Given the description of an element on the screen output the (x, y) to click on. 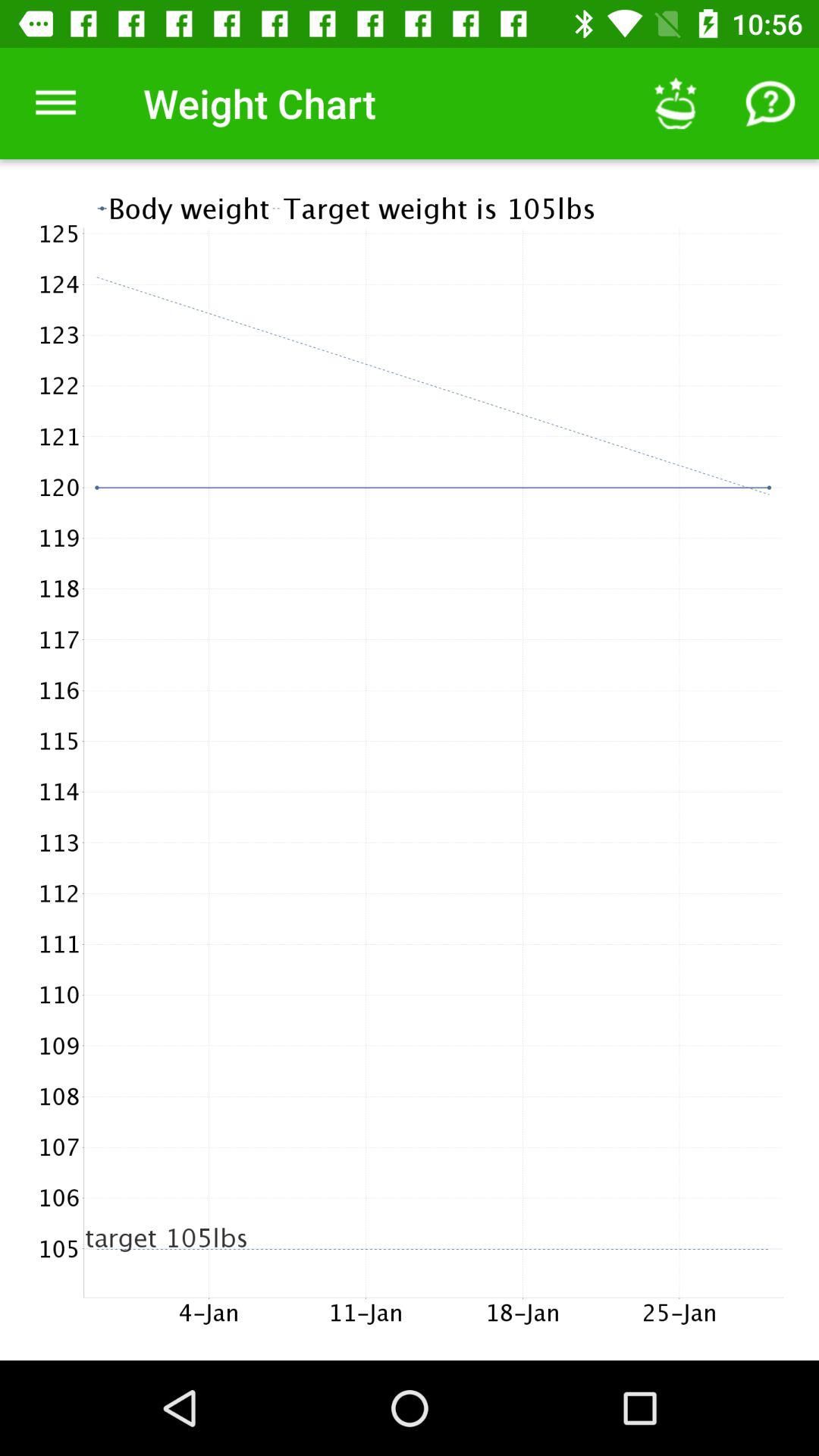
press item next to the weight chart icon (55, 103)
